Given the description of an element on the screen output the (x, y) to click on. 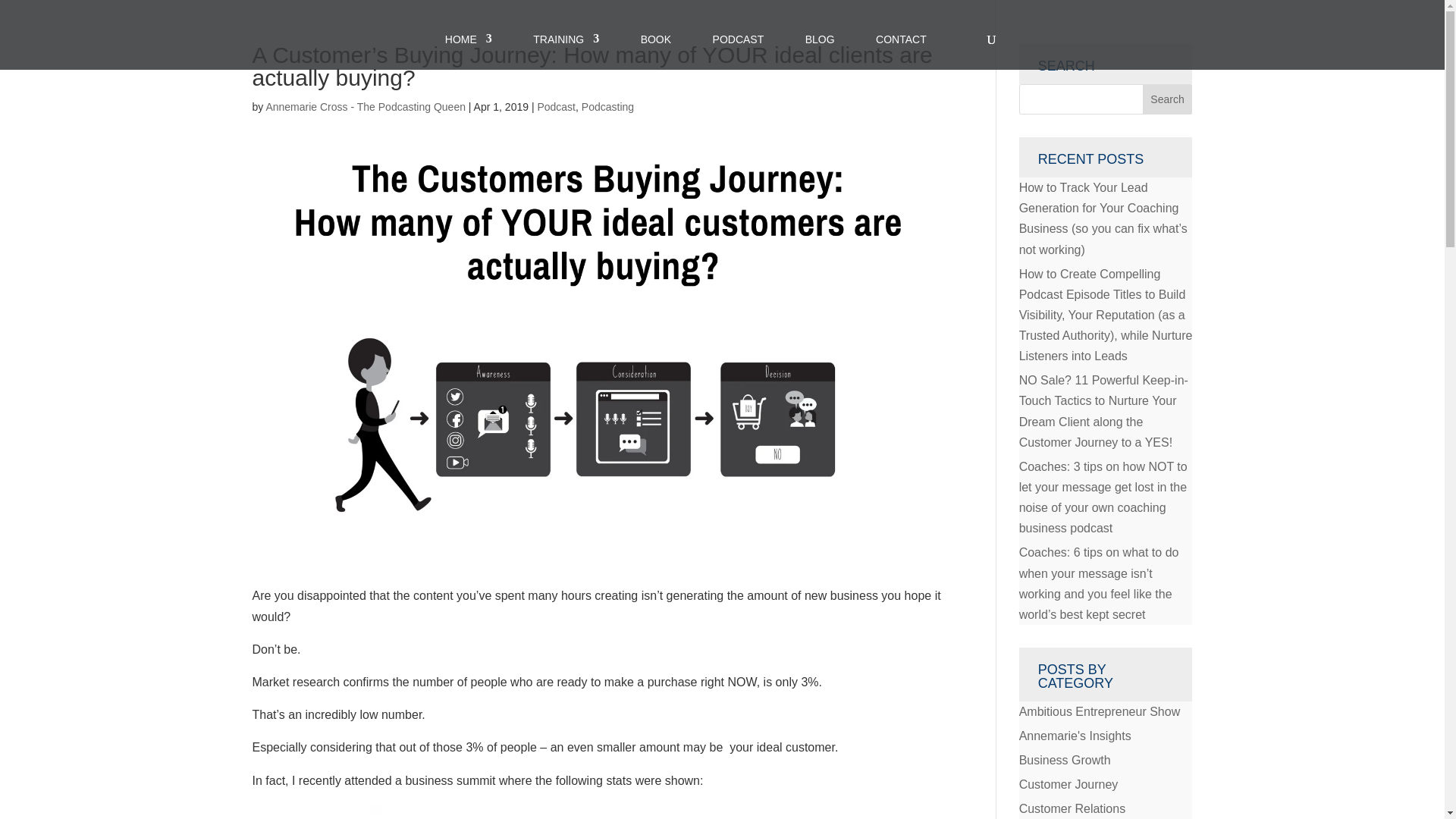
Customer Journey (1068, 784)
Business Growth (1064, 759)
Search (1167, 99)
Ambitious Entrepreneur Show (1099, 711)
TRAINING (565, 39)
Podcast (556, 106)
Posts by Annemarie Cross - The Podcasting Queen (364, 106)
Annemarie Cross - The Podcasting Queen (364, 106)
